Given the description of an element on the screen output the (x, y) to click on. 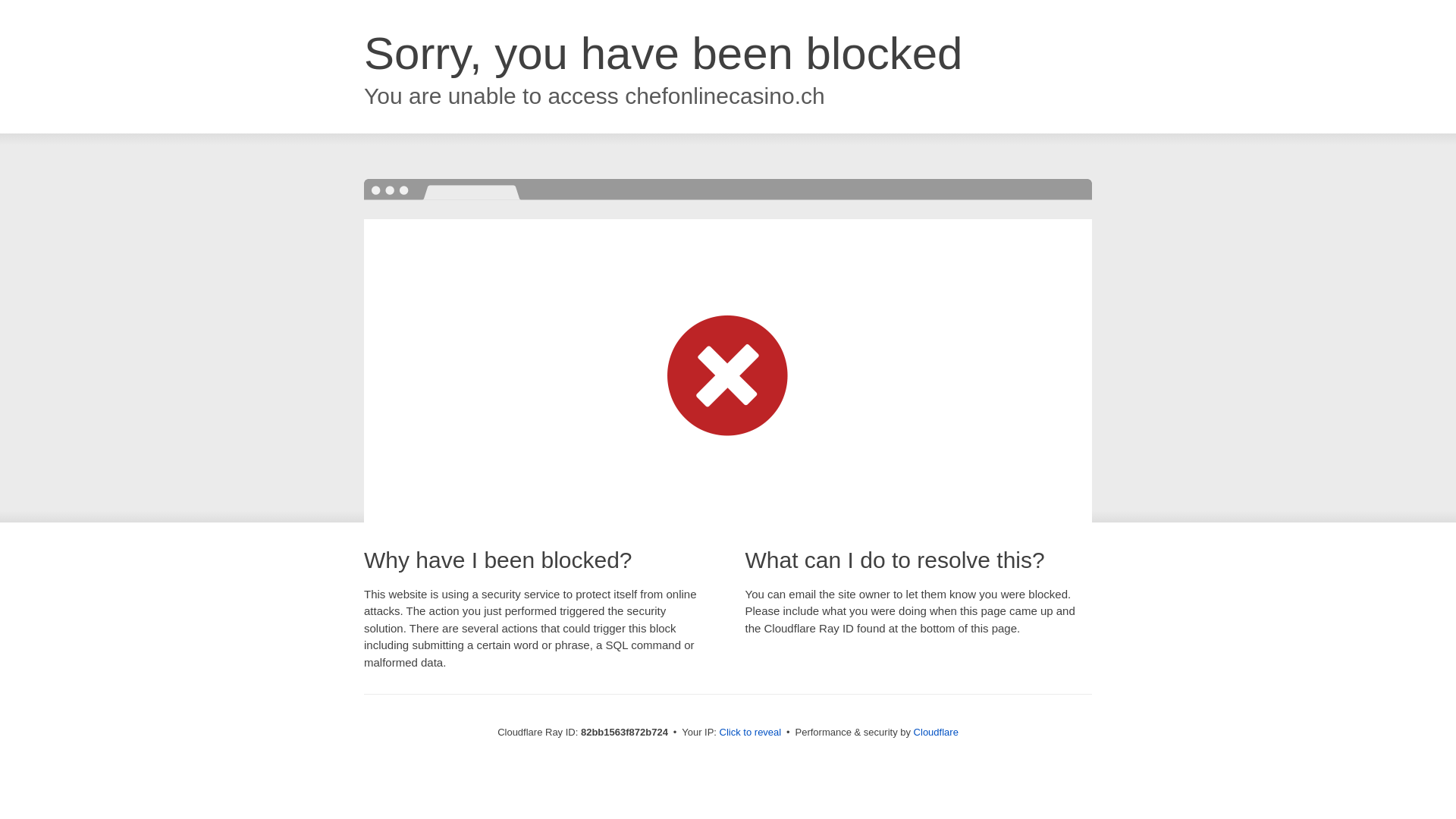
Click to reveal Element type: text (750, 732)
Cloudflare Element type: text (935, 731)
